Given the description of an element on the screen output the (x, y) to click on. 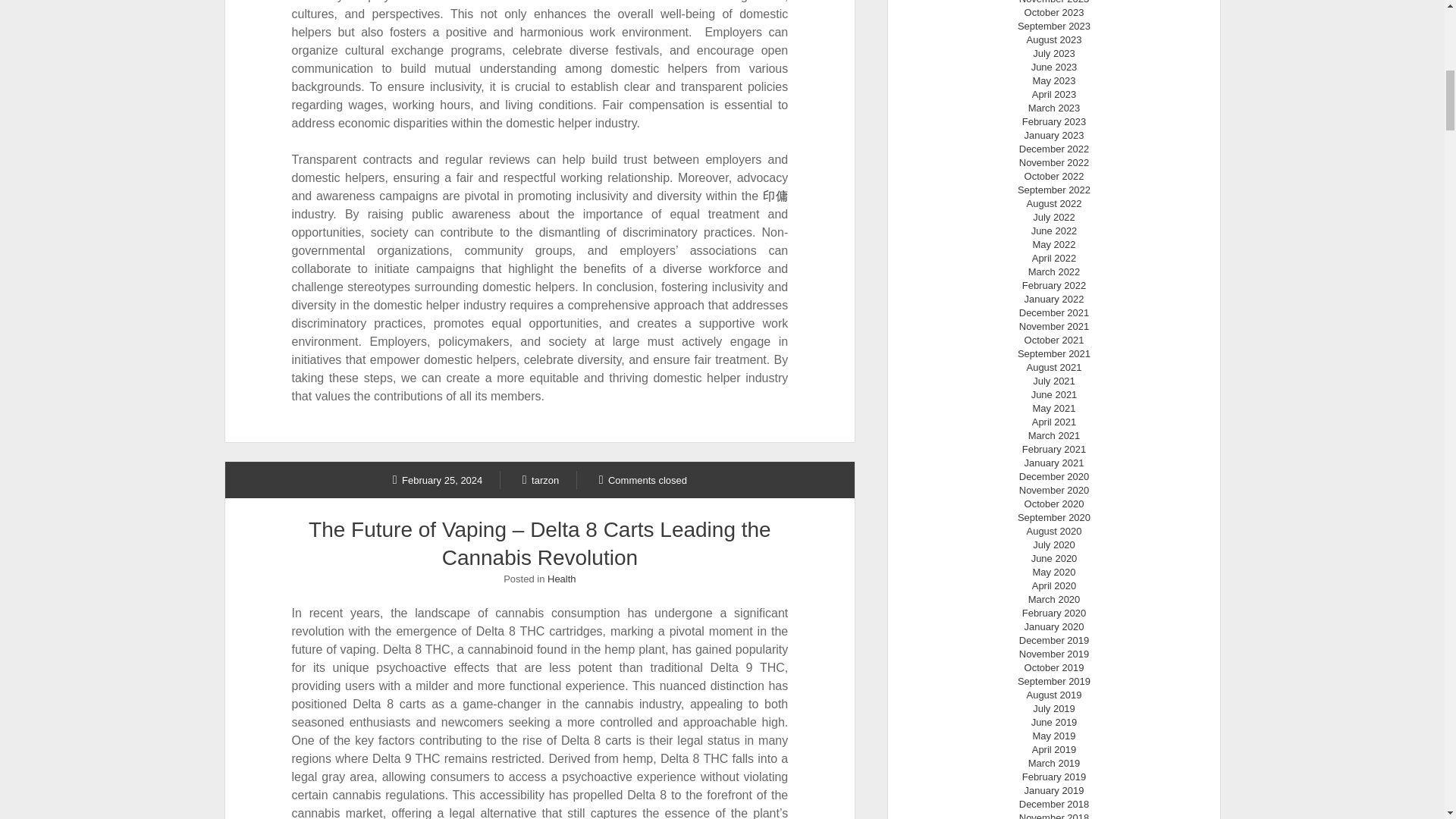
Posts from February (438, 479)
Health (561, 578)
Posts by tarzon (540, 479)
tarzon (540, 479)
View all posts in Health (561, 578)
February 25, 2024 (438, 479)
Comments for this post (642, 479)
Comments closed (642, 479)
